Given the description of an element on the screen output the (x, y) to click on. 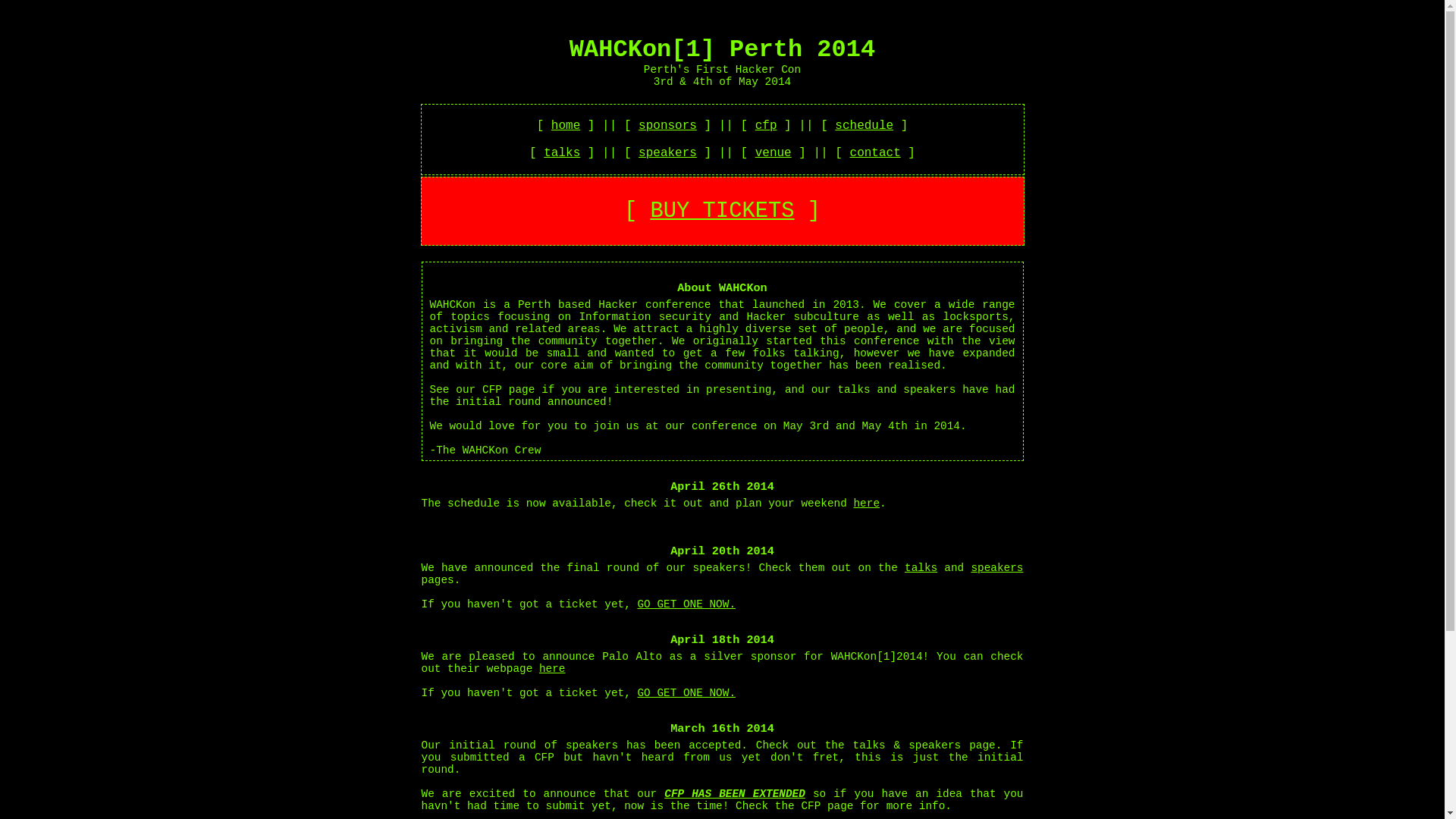
sponsors Element type: text (667, 125)
contact Element type: text (875, 153)
BUY TICKETS Element type: text (721, 210)
talks Element type: text (561, 153)
here Element type: text (552, 668)
speakers Element type: text (996, 567)
venue Element type: text (773, 153)
talks Element type: text (920, 567)
cfp Element type: text (766, 125)
here Element type: text (866, 503)
GO GET ONE NOW. Element type: text (686, 604)
GO GET ONE NOW. Element type: text (686, 693)
schedule Element type: text (863, 125)
speakers Element type: text (667, 153)
home Element type: text (565, 125)
